Given the description of an element on the screen output the (x, y) to click on. 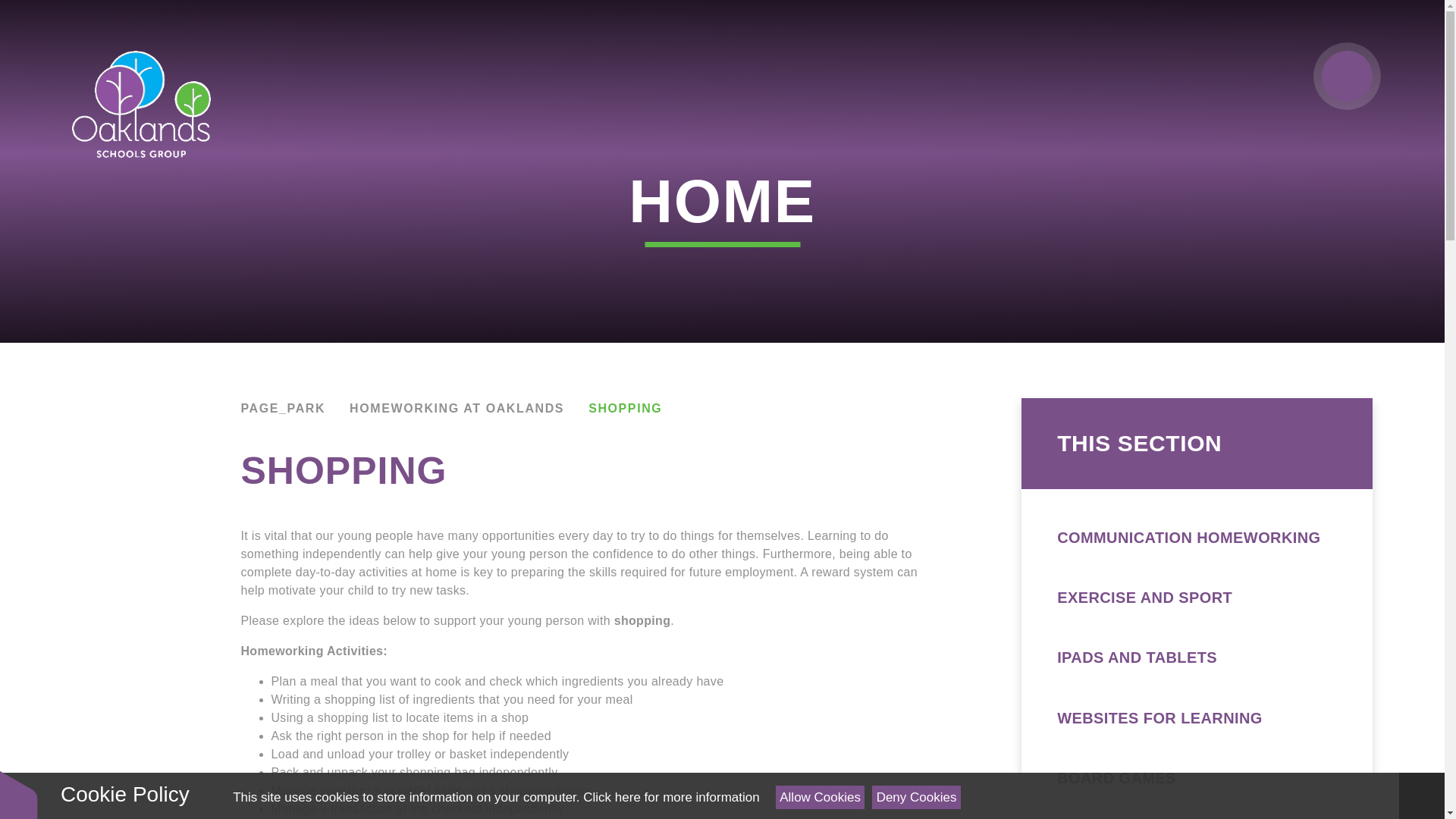
See cookie policy (670, 797)
Allow Cookies (820, 797)
Deny Cookies (915, 797)
